Given the description of an element on the screen output the (x, y) to click on. 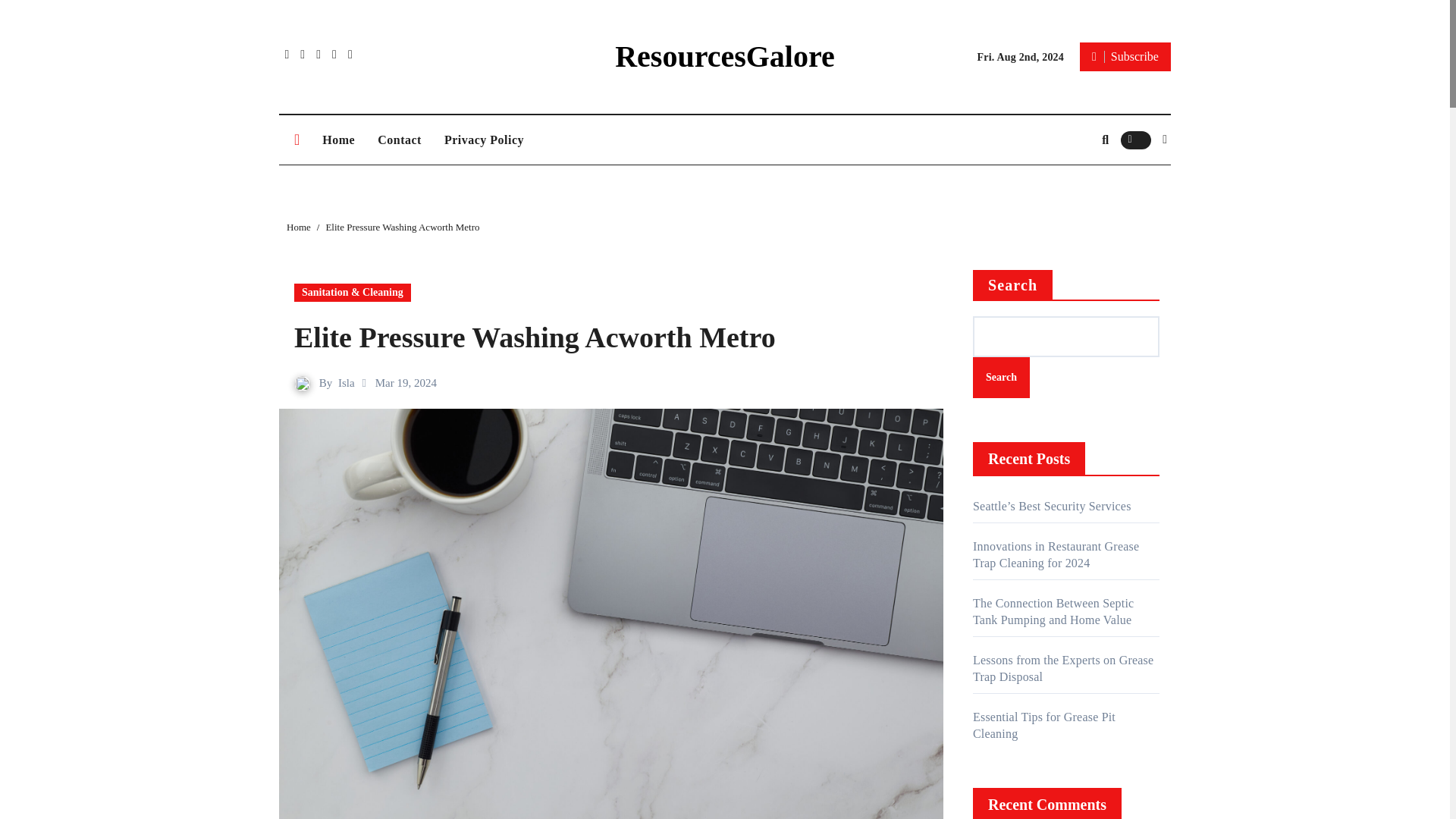
Contact (399, 139)
Home (298, 226)
Mar 19, 2024 (405, 382)
Isla (346, 382)
Home (338, 139)
Subscribe (1125, 56)
ResourcesGalore (724, 56)
Privacy Policy (483, 139)
Home (338, 139)
Elite Pressure Washing Acworth Metro (611, 337)
